Given the description of an element on the screen output the (x, y) to click on. 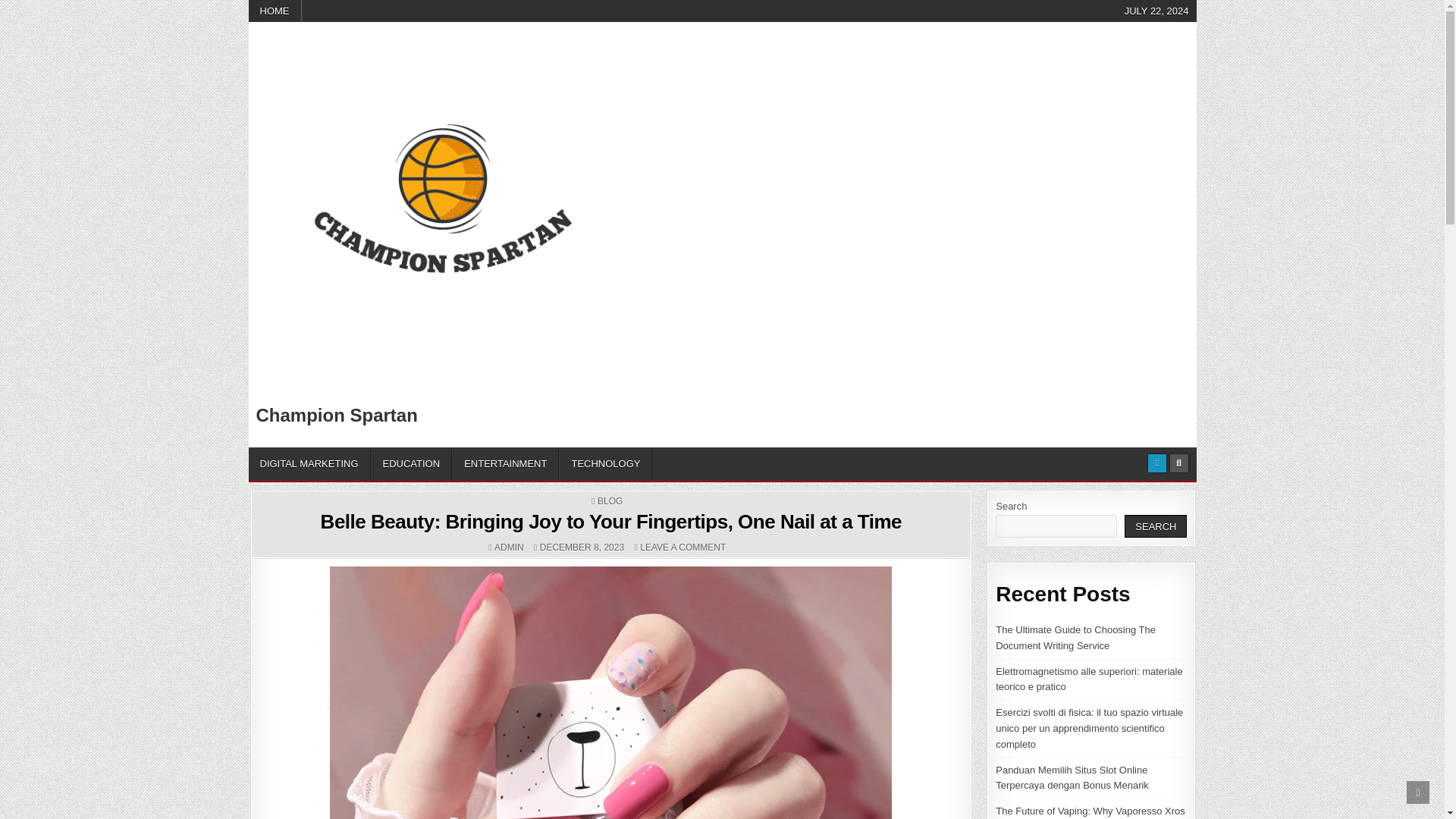
SEARCH (1155, 526)
EDUCATION (411, 463)
SCROLL TO TOP (1417, 792)
DIGITAL MARKETING (309, 463)
HOME (274, 11)
ADMIN (509, 547)
TECHNOLOGY (605, 463)
Champion Spartan (336, 414)
Scroll to Top (1417, 792)
ENTERTAINMENT (505, 463)
Search (1178, 462)
